Given the description of an element on the screen output the (x, y) to click on. 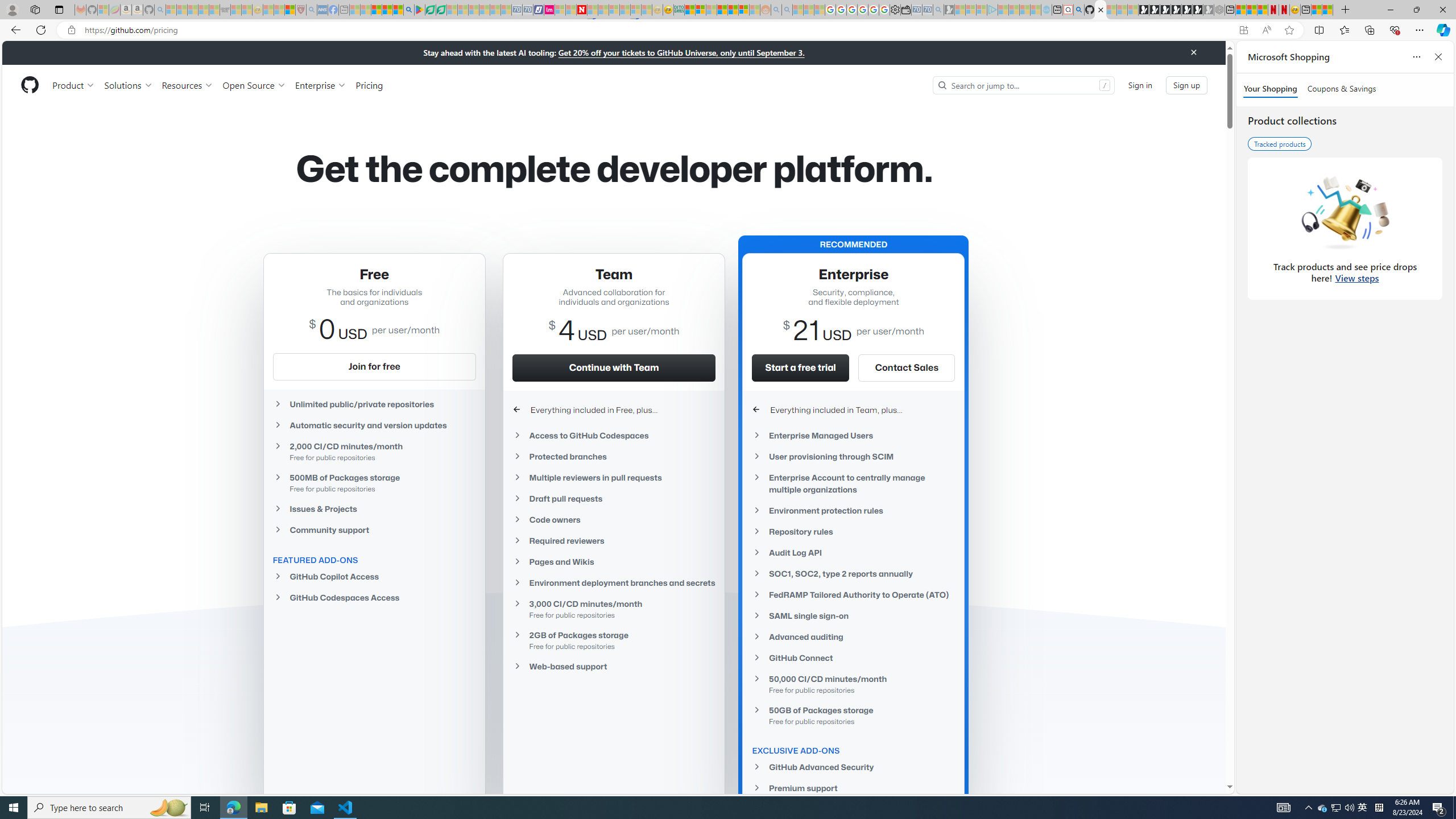
Protected branches (614, 456)
GitHub Advanced Security (853, 766)
Wallet (905, 9)
Open Source (254, 84)
Unlimited public/private repositories (374, 404)
Web-based support (614, 666)
Product (74, 84)
Enterprise Managed Users (853, 435)
